Given the description of an element on the screen output the (x, y) to click on. 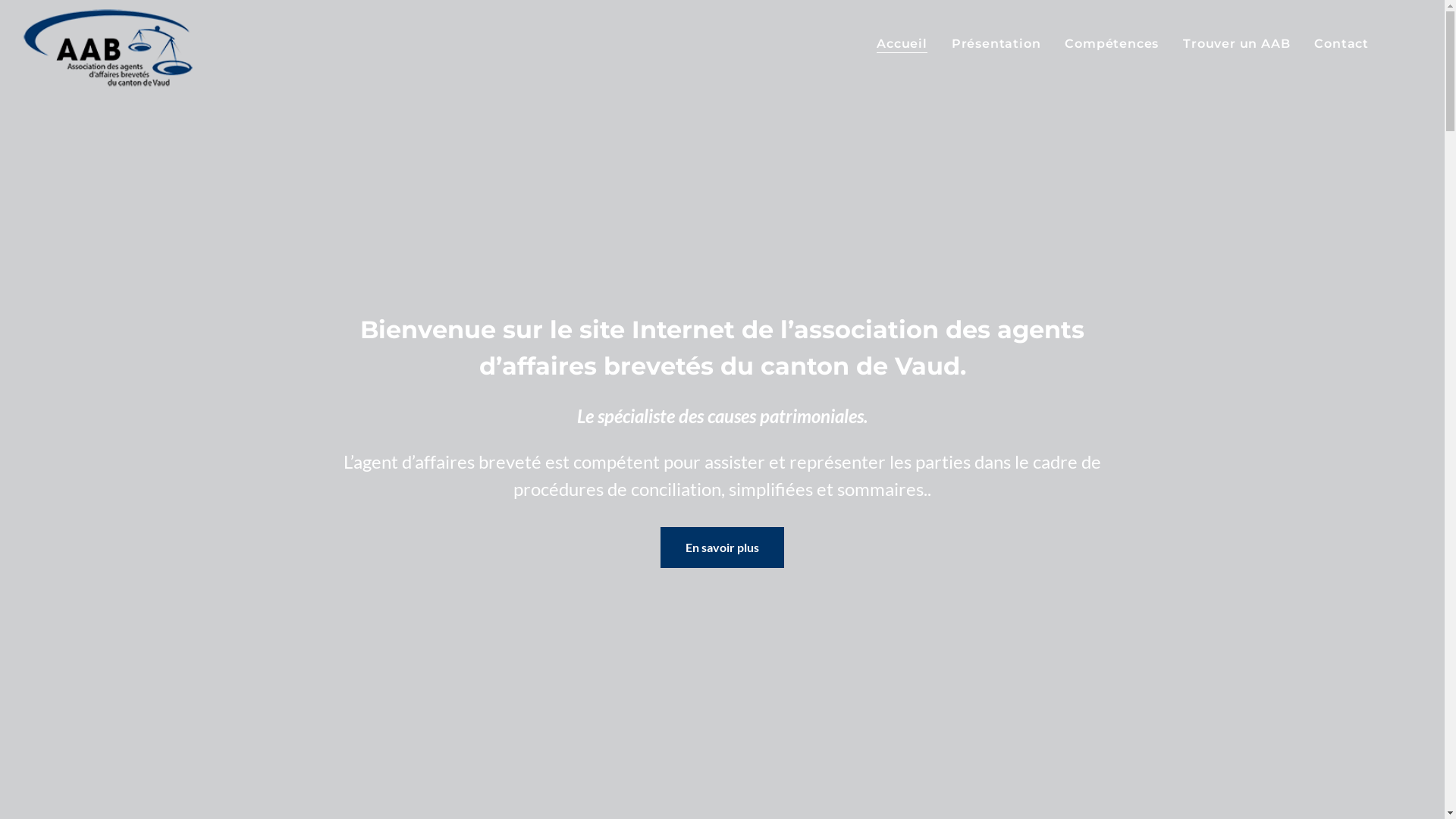
Contact Element type: text (1341, 43)
Accueil Element type: text (901, 43)
Trouver un AAB Element type: text (1236, 43)
En savoir plus Element type: text (722, 547)
